Given the description of an element on the screen output the (x, y) to click on. 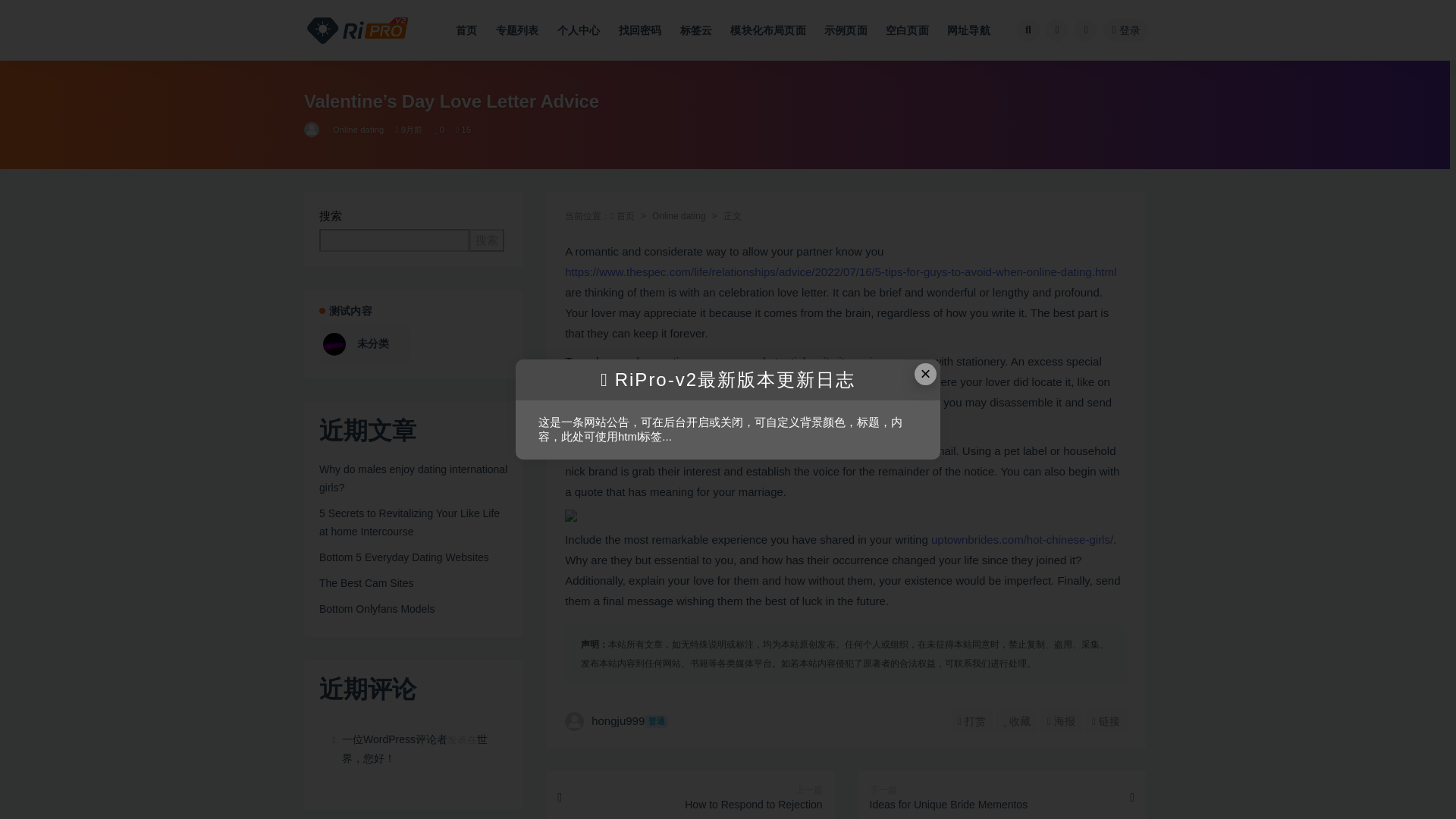
Online dating (358, 129)
How to Respond to Rejection (690, 795)
Ideas for Unique Bride Mementos (1001, 795)
Online dating (679, 215)
hongju999 (312, 129)
